Given the description of an element on the screen output the (x, y) to click on. 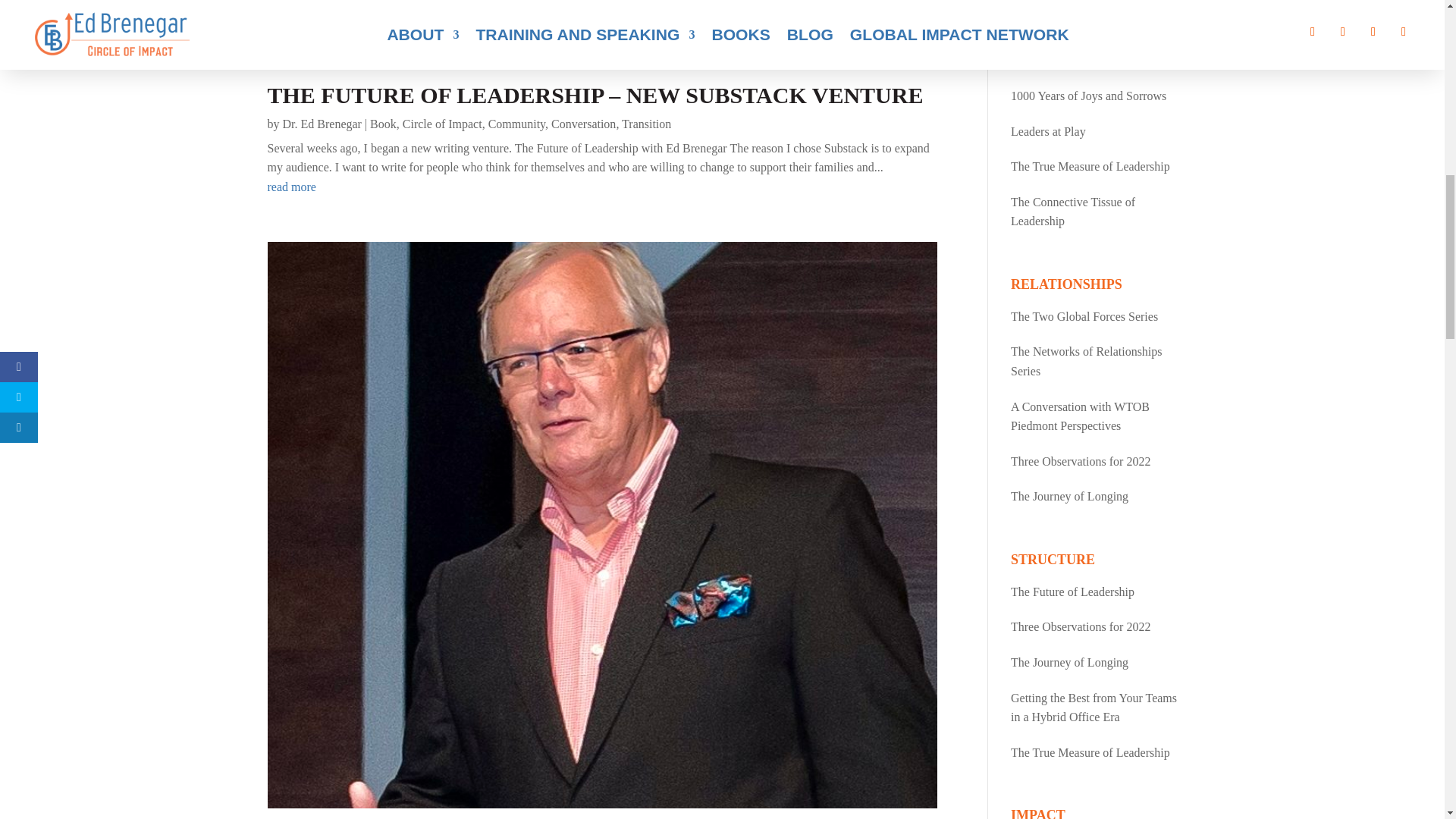
Posts by Dr. Ed Brenegar (321, 123)
